Given the description of an element on the screen output the (x, y) to click on. 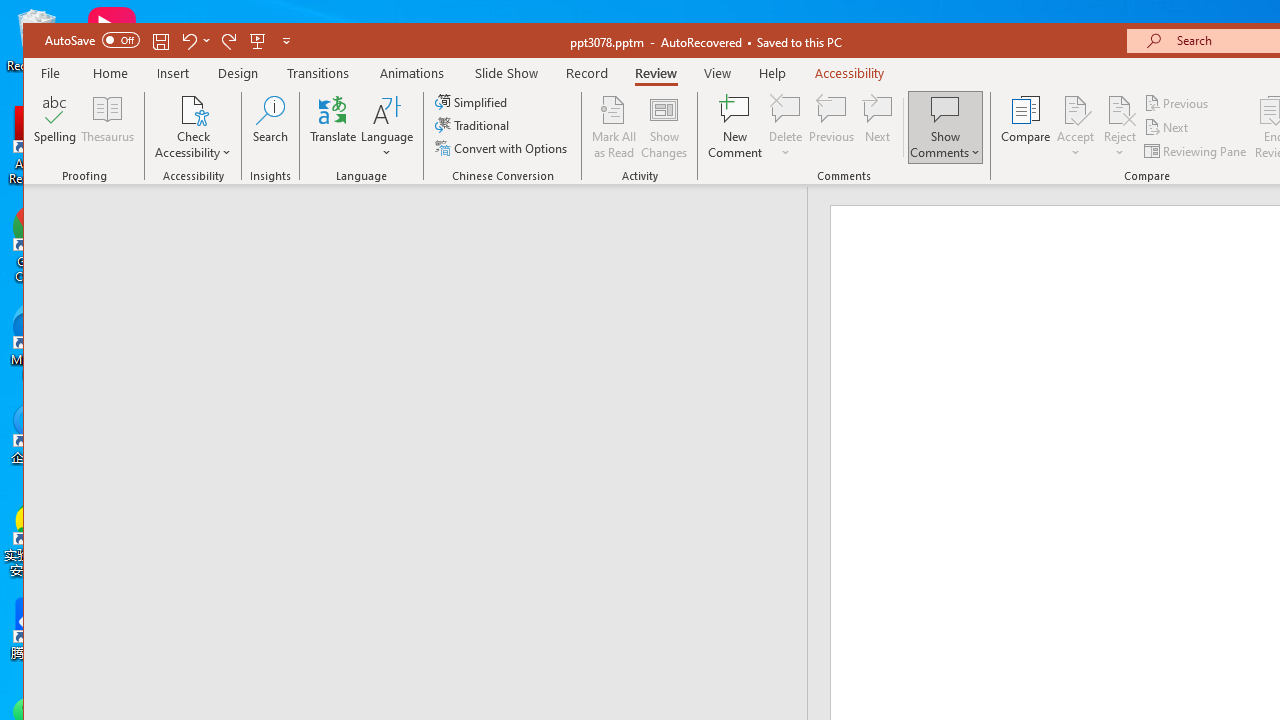
Reject (1119, 127)
Thesaurus... (107, 127)
Traditional (473, 124)
Accept (1075, 127)
Accept Change (1075, 109)
Next (1167, 126)
Reviewing Pane (1196, 150)
